Given the description of an element on the screen output the (x, y) to click on. 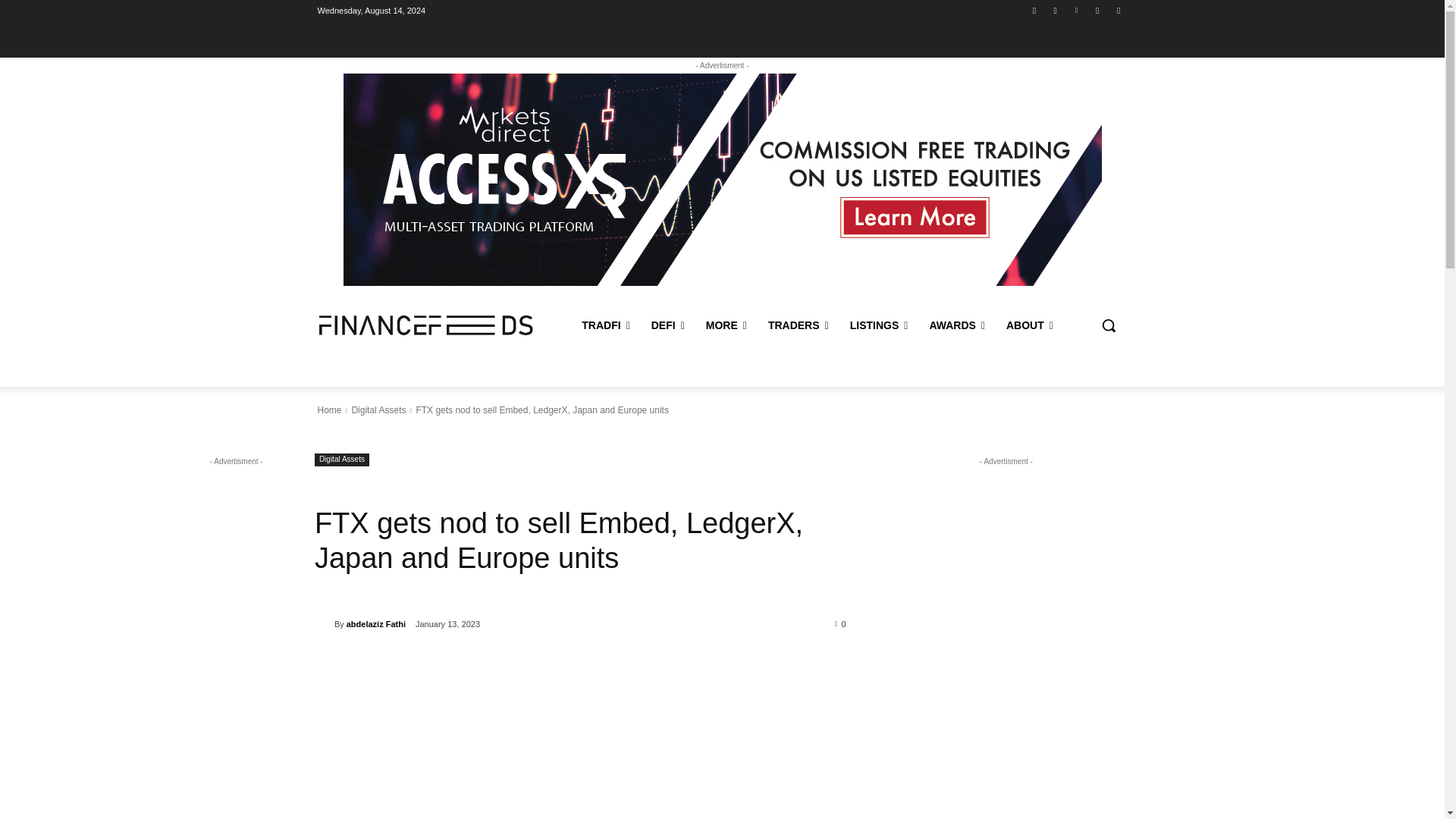
Twitter (1117, 9)
Youtube (1055, 9)
View all posts in Digital Assets (378, 409)
Facebook (1034, 9)
Linkedin (1075, 9)
Rss (1097, 9)
